Given the description of an element on the screen output the (x, y) to click on. 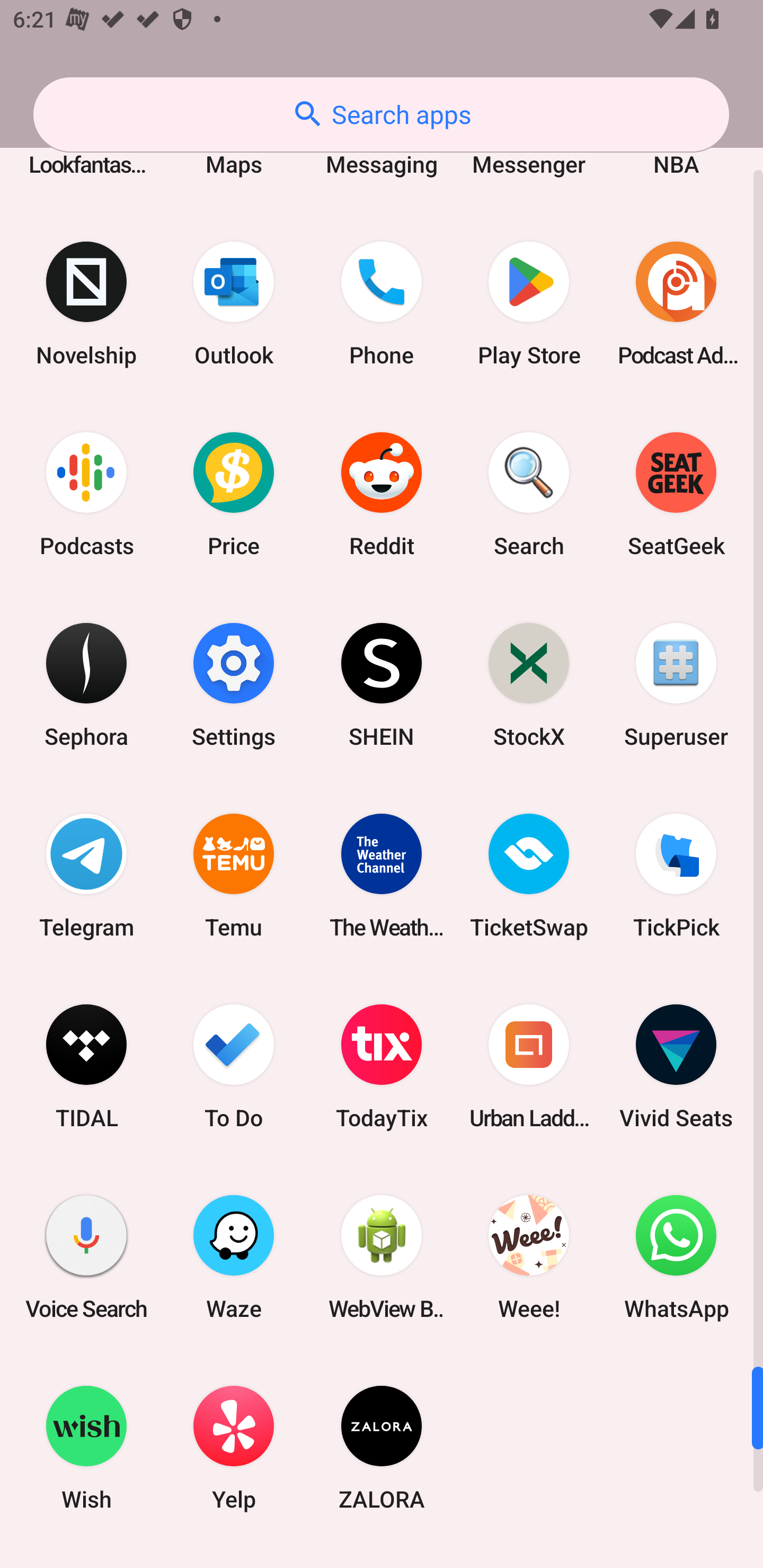
Yelp (233, 1446)
